Given the description of an element on the screen output the (x, y) to click on. 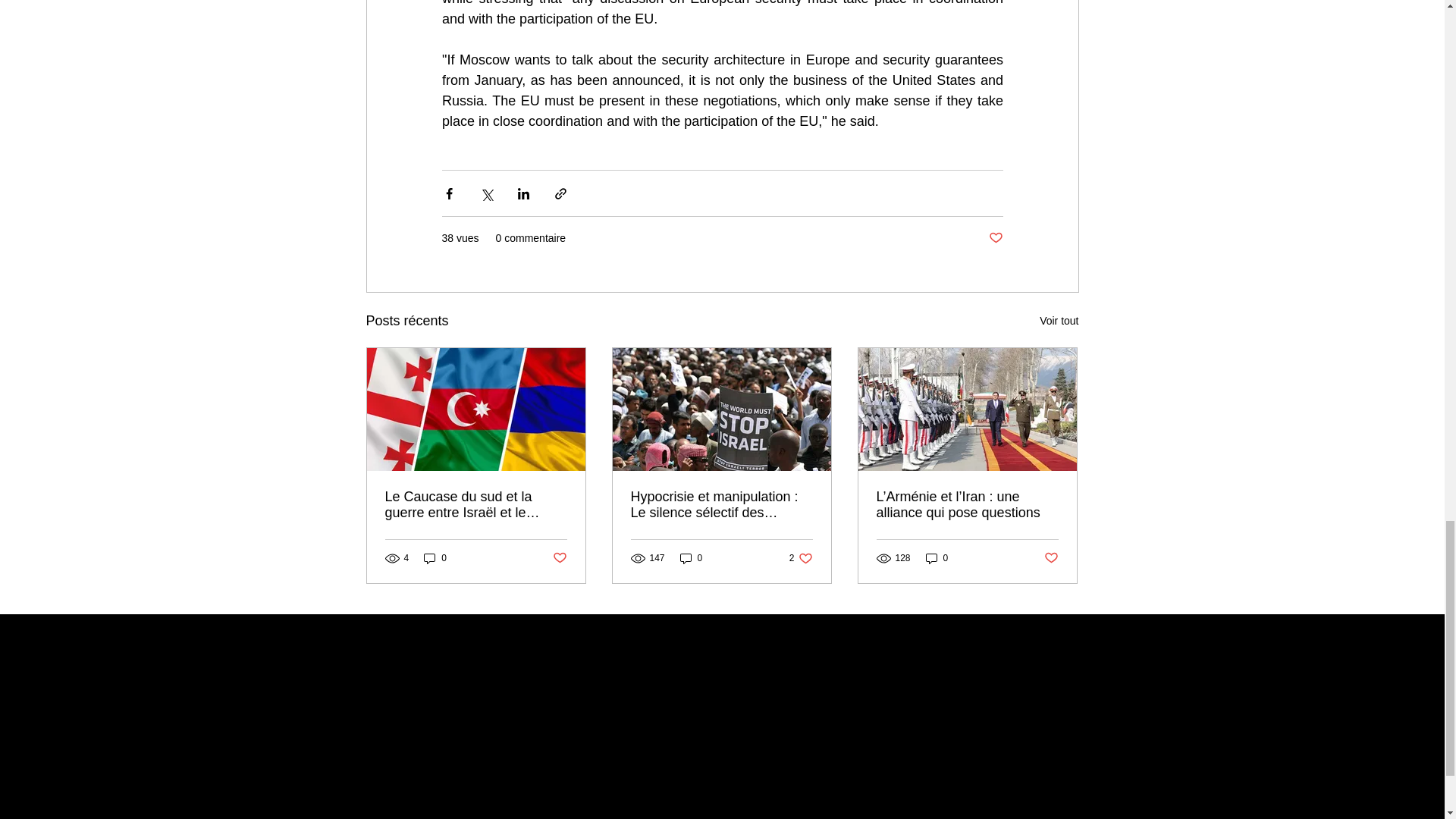
Voir tout (1058, 321)
0 (435, 557)
Vous n'aimez plus ce post (995, 238)
0 (691, 557)
Vous n'aimez plus ce post (558, 558)
Vous n'aimez plus ce post (1050, 558)
0 (937, 557)
